Given the description of an element on the screen output the (x, y) to click on. 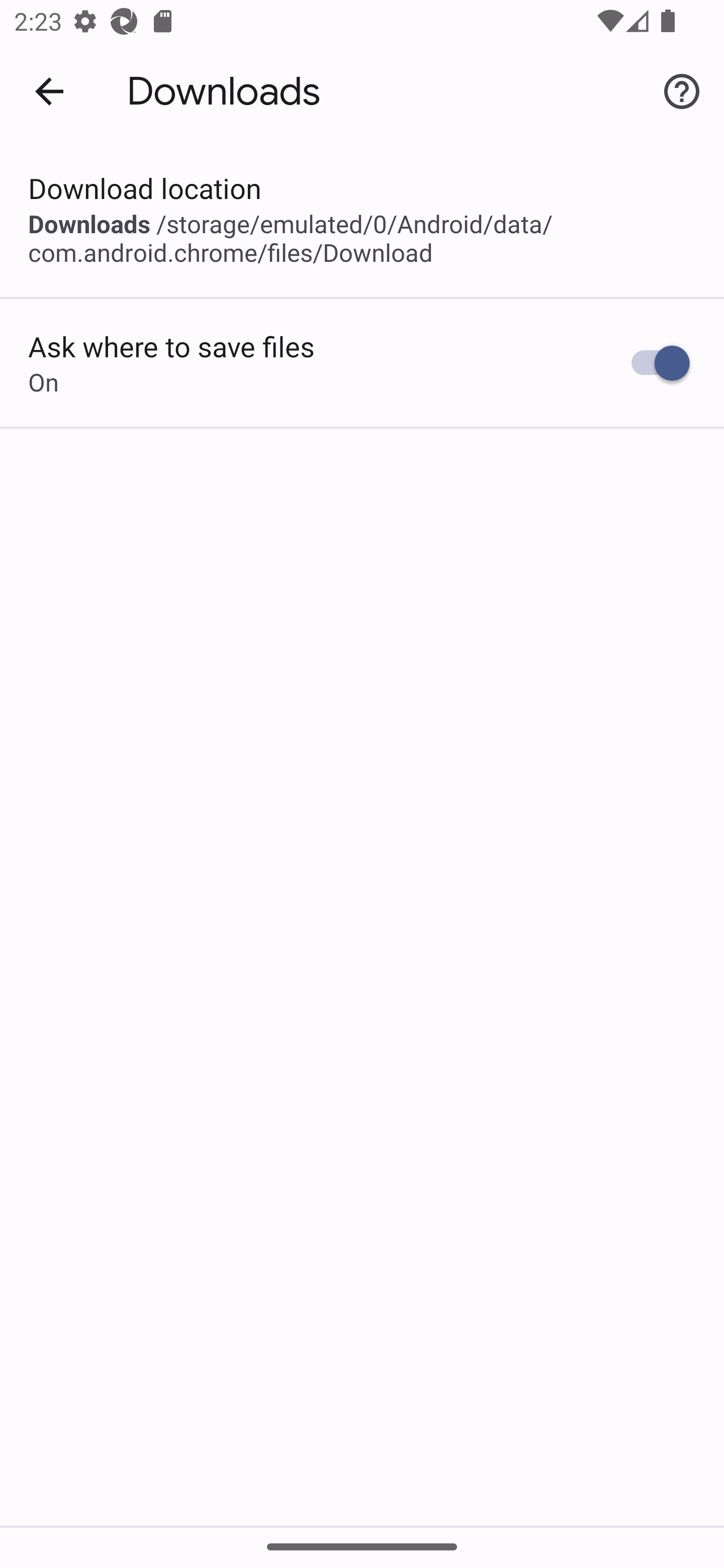
Navigate up (49, 91)
Help & feedback (681, 90)
Ask where to save files On (362, 362)
